Given the description of an element on the screen output the (x, y) to click on. 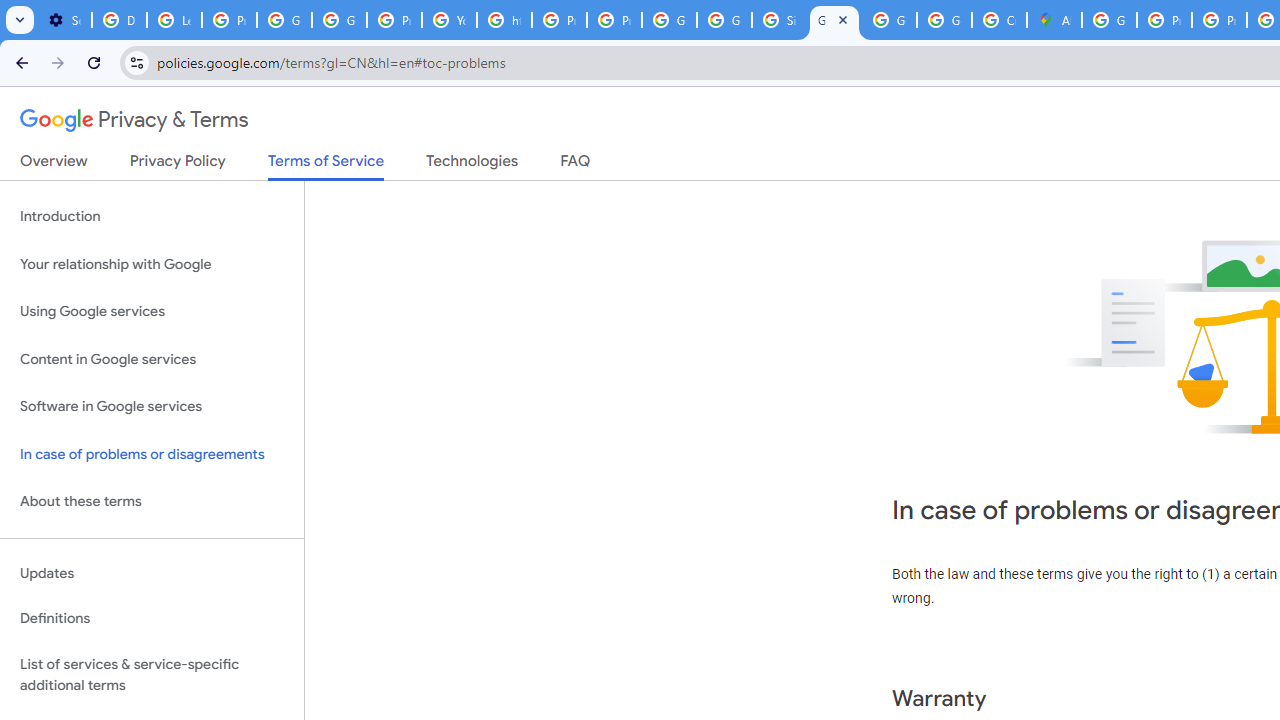
Settings - On startup (64, 20)
Using Google services (152, 312)
Sign in - Google Accounts (779, 20)
Definitions (152, 619)
